Given the description of an element on the screen output the (x, y) to click on. 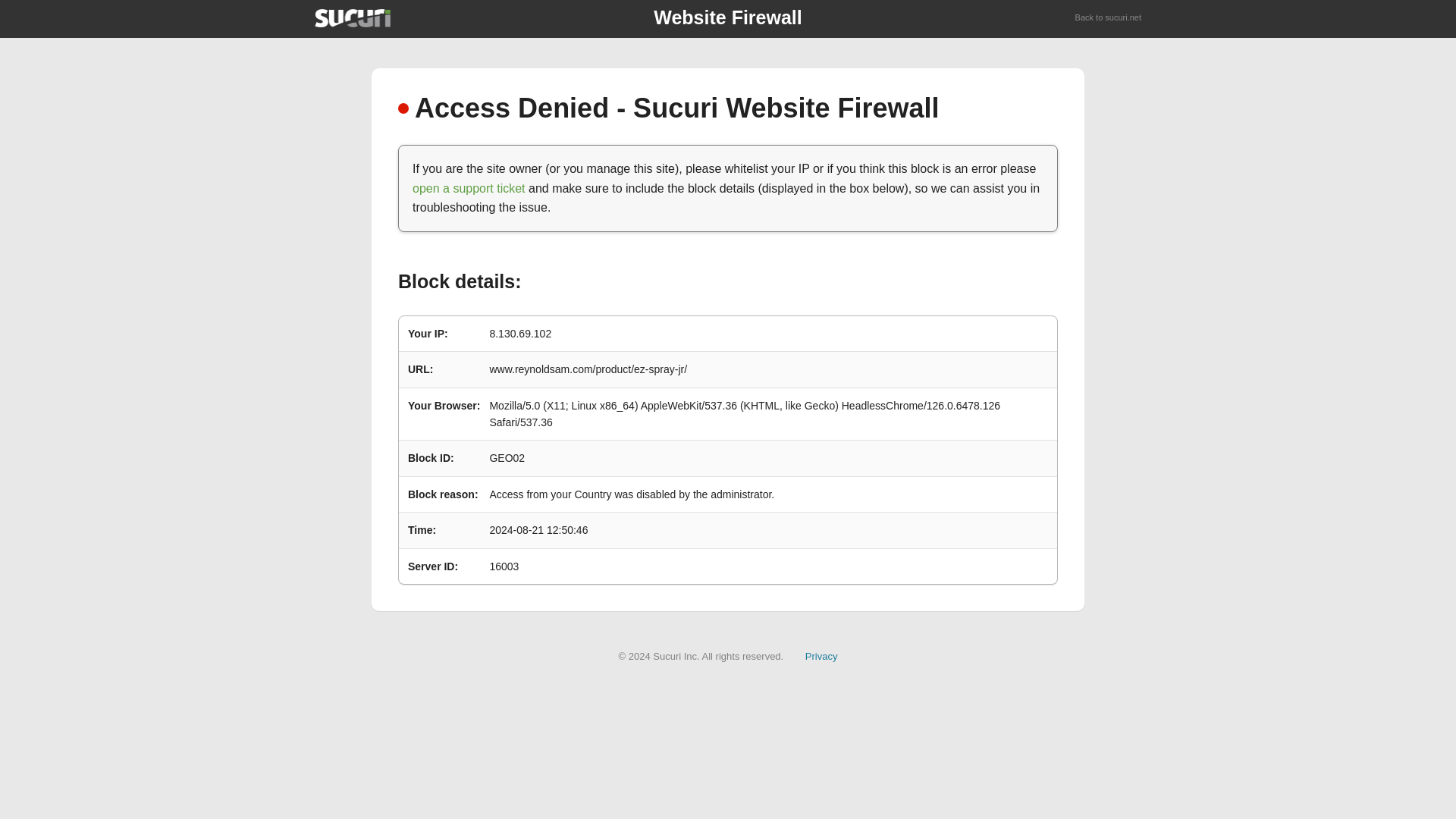
open a support ticket (468, 187)
Privacy (821, 655)
Back to sucuri.net (1108, 18)
